Given the description of an element on the screen output the (x, y) to click on. 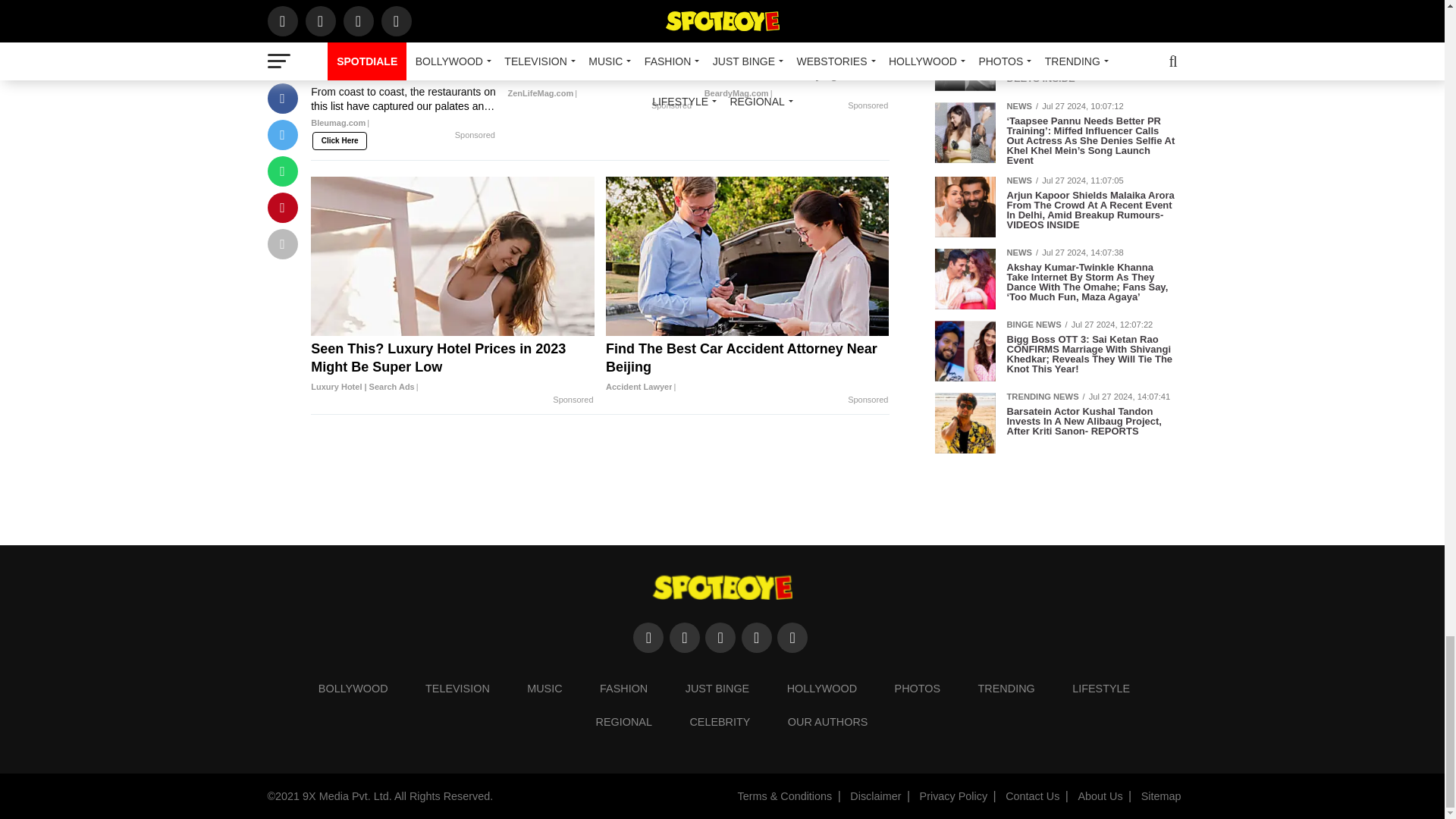
Top 12 Restaurants in Canada and the USA (403, 94)
